Given the description of an element on the screen output the (x, y) to click on. 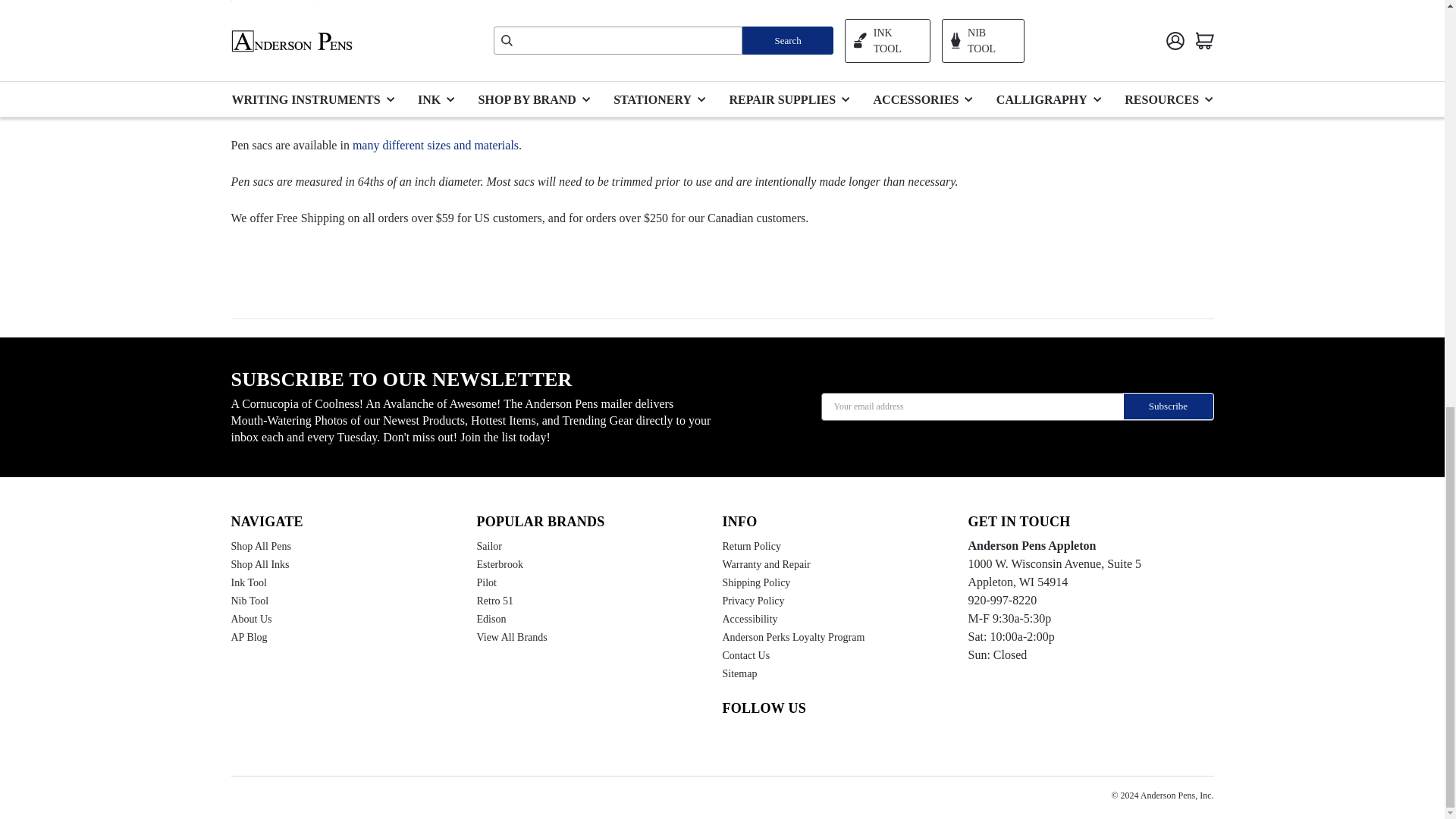
Subscribe (1167, 406)
Youtube (759, 741)
Instagram (730, 741)
Facebook (785, 741)
Pinterest (842, 741)
Anderson Pens pen sacs (435, 144)
Twitter (814, 741)
